Given the description of an element on the screen output the (x, y) to click on. 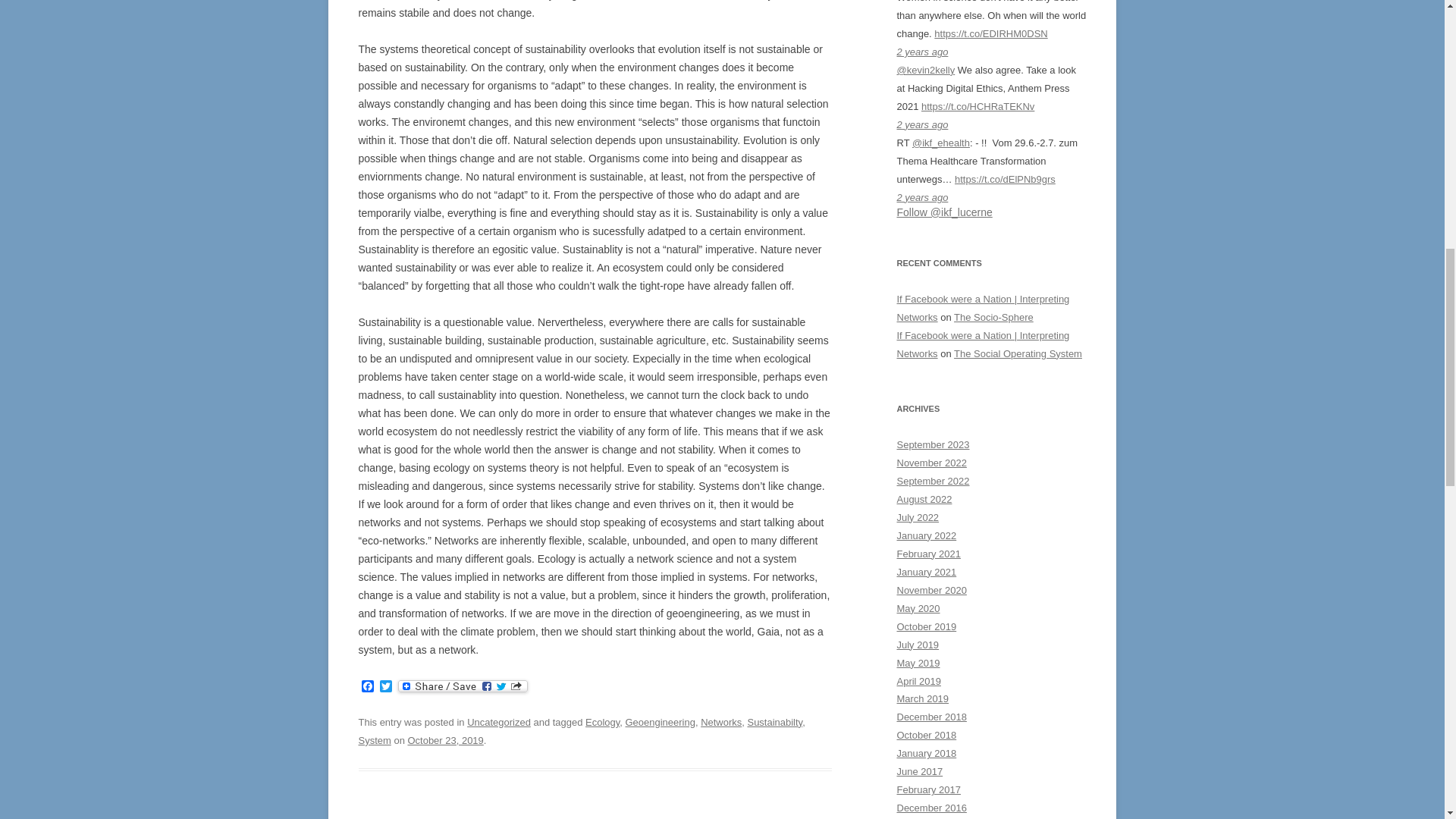
2 years ago (921, 124)
Uncategorized (499, 722)
October 23, 2019 (445, 740)
Ecology (602, 722)
Facebook (366, 687)
Twitter (384, 687)
2 years ago (921, 51)
Geoengineering (660, 722)
Networks (720, 722)
10:54 am (445, 740)
Facebook (366, 687)
Twitter (384, 687)
2 years ago (921, 197)
The Socio-Sphere (993, 317)
Sustainabilty (774, 722)
